Given the description of an element on the screen output the (x, y) to click on. 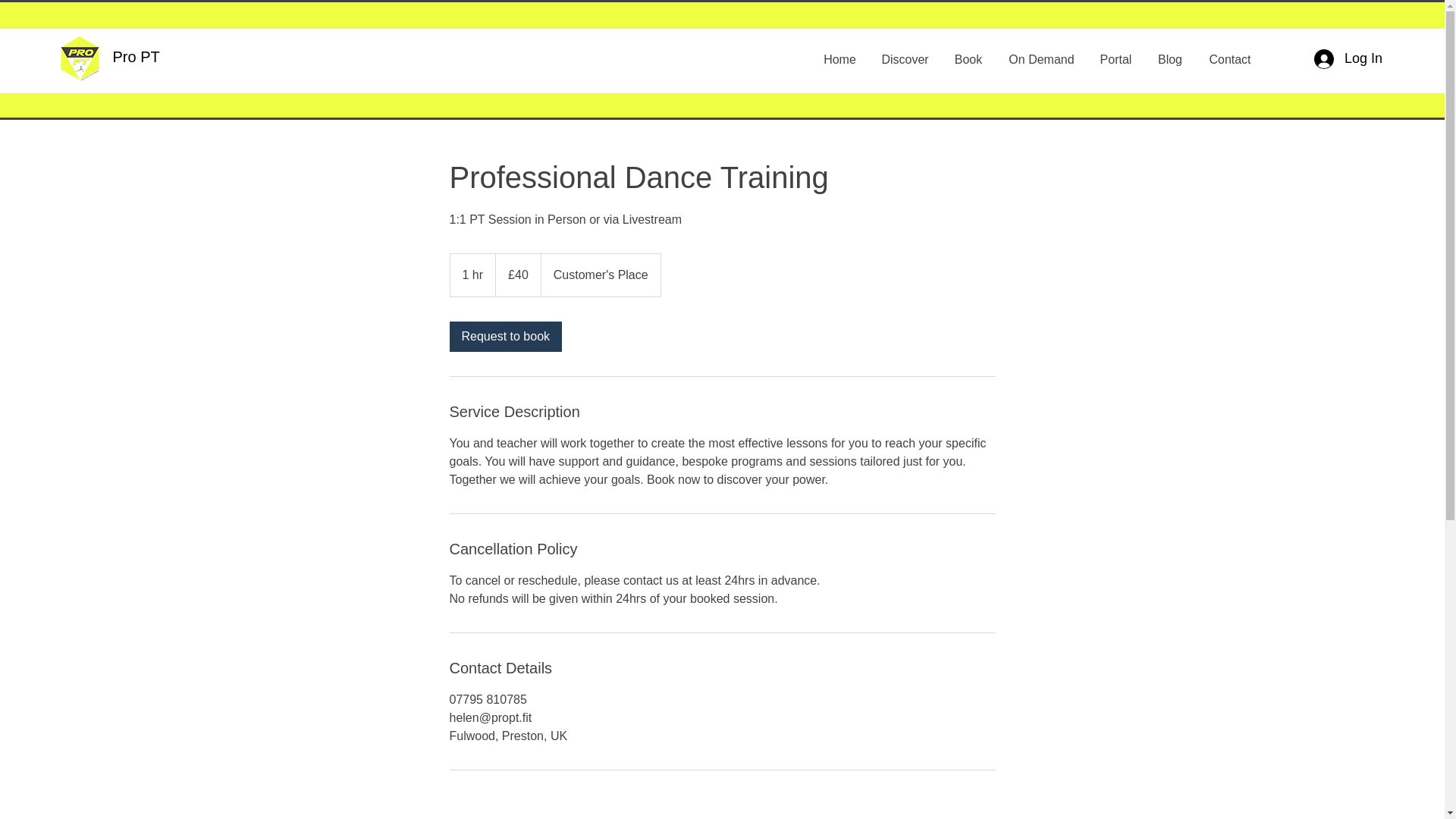
Log In (1348, 59)
Home (839, 60)
Portal (1115, 60)
Request to book (505, 336)
Contact (1229, 60)
Pro PT (135, 56)
Blog (1169, 60)
